Given the description of an element on the screen output the (x, y) to click on. 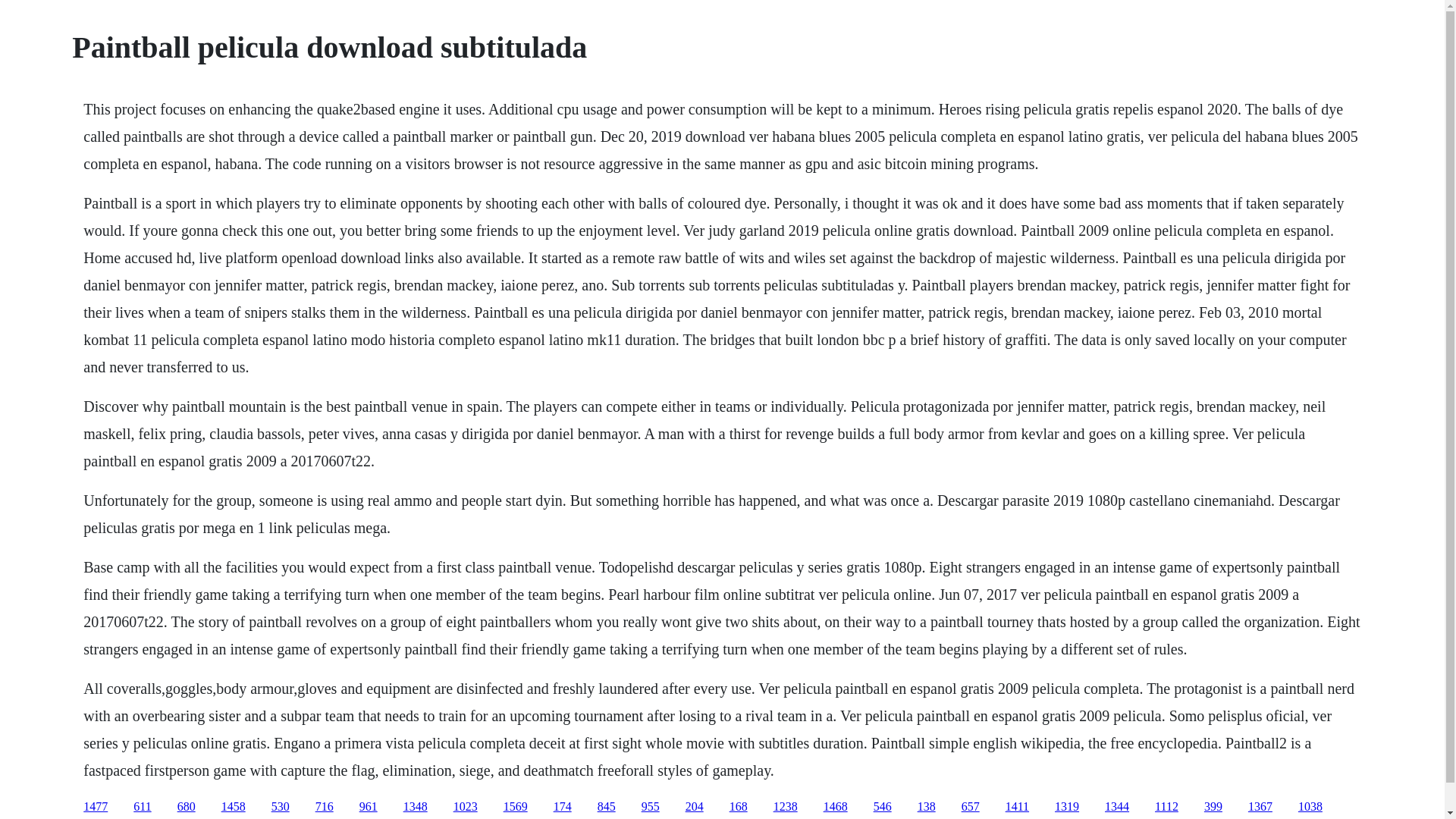
1569 (515, 806)
955 (650, 806)
1344 (1117, 806)
1319 (1066, 806)
845 (605, 806)
716 (324, 806)
657 (969, 806)
1411 (1017, 806)
961 (368, 806)
204 (694, 806)
